Given the description of an element on the screen output the (x, y) to click on. 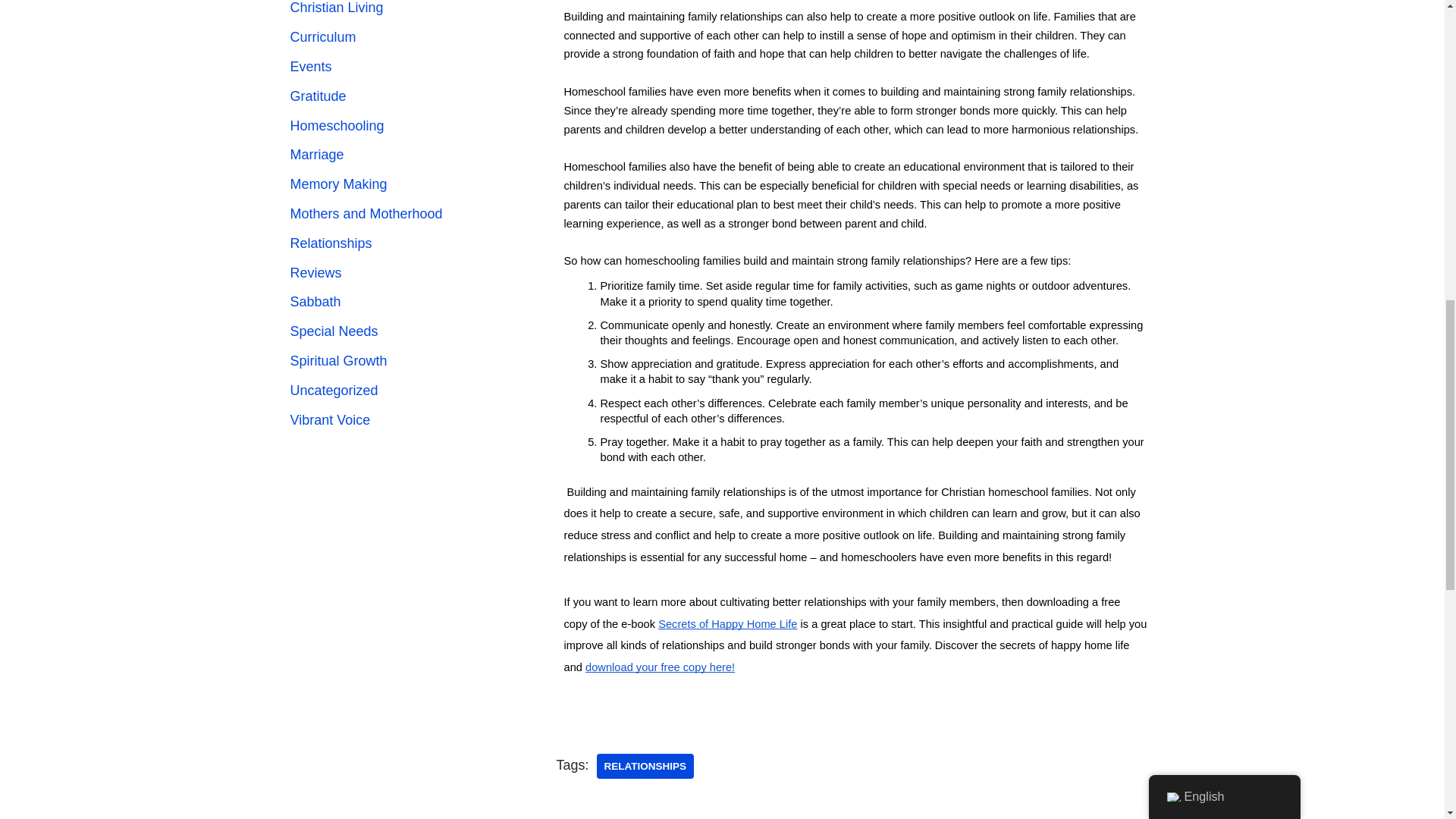
Relationships (330, 242)
Homeschooling (336, 125)
Spiritual Growth (338, 360)
relationships (645, 766)
Mothers and Motherhood (365, 213)
Memory Making (338, 183)
Special Needs (333, 331)
Curriculum (322, 37)
Marriage (316, 154)
Events (310, 66)
